Given the description of an element on the screen output the (x, y) to click on. 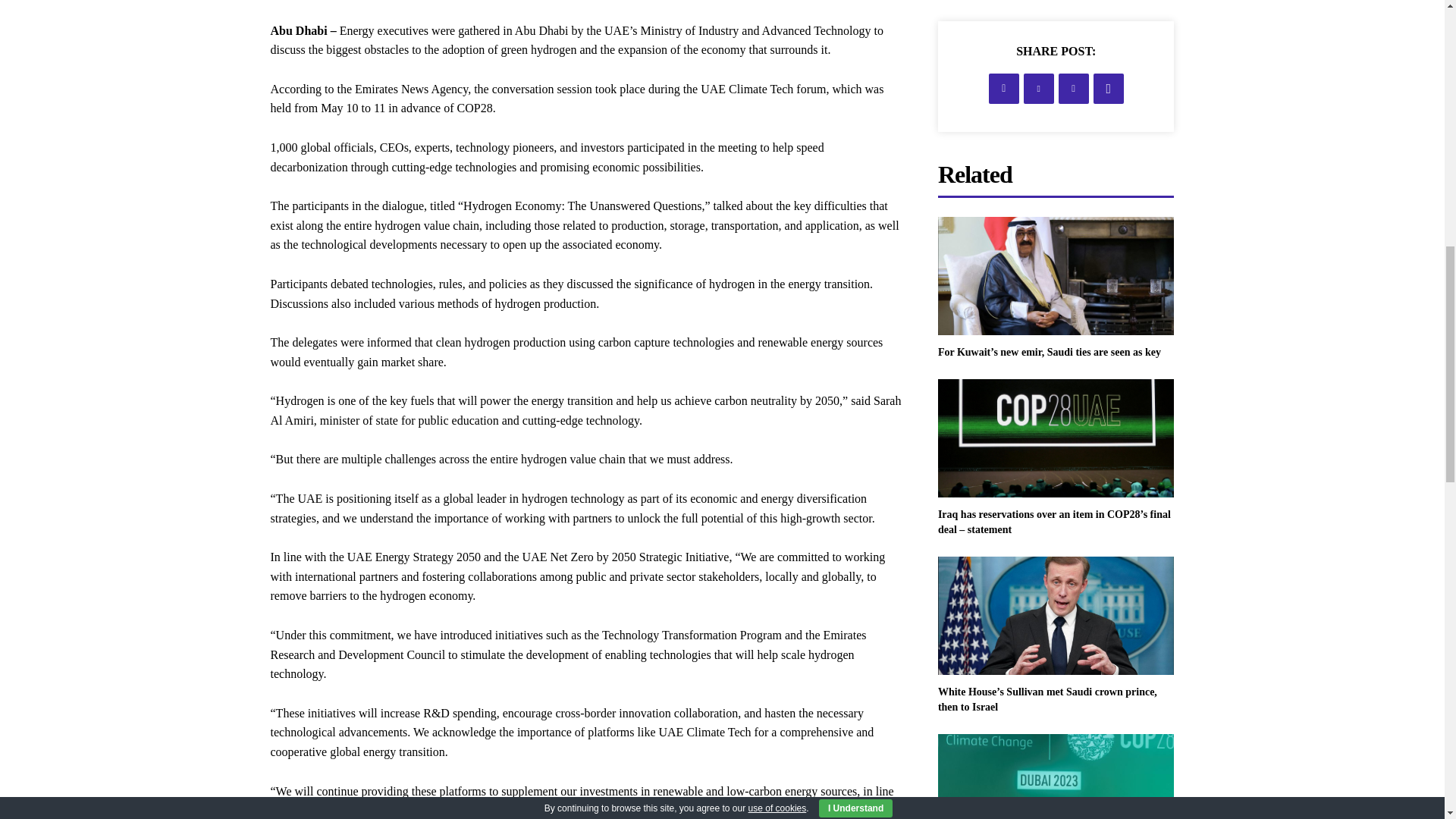
Twitter (1038, 88)
WhatsApp (1108, 88)
Pinterest (1073, 88)
Facebook (1003, 88)
